Given the description of an element on the screen output the (x, y) to click on. 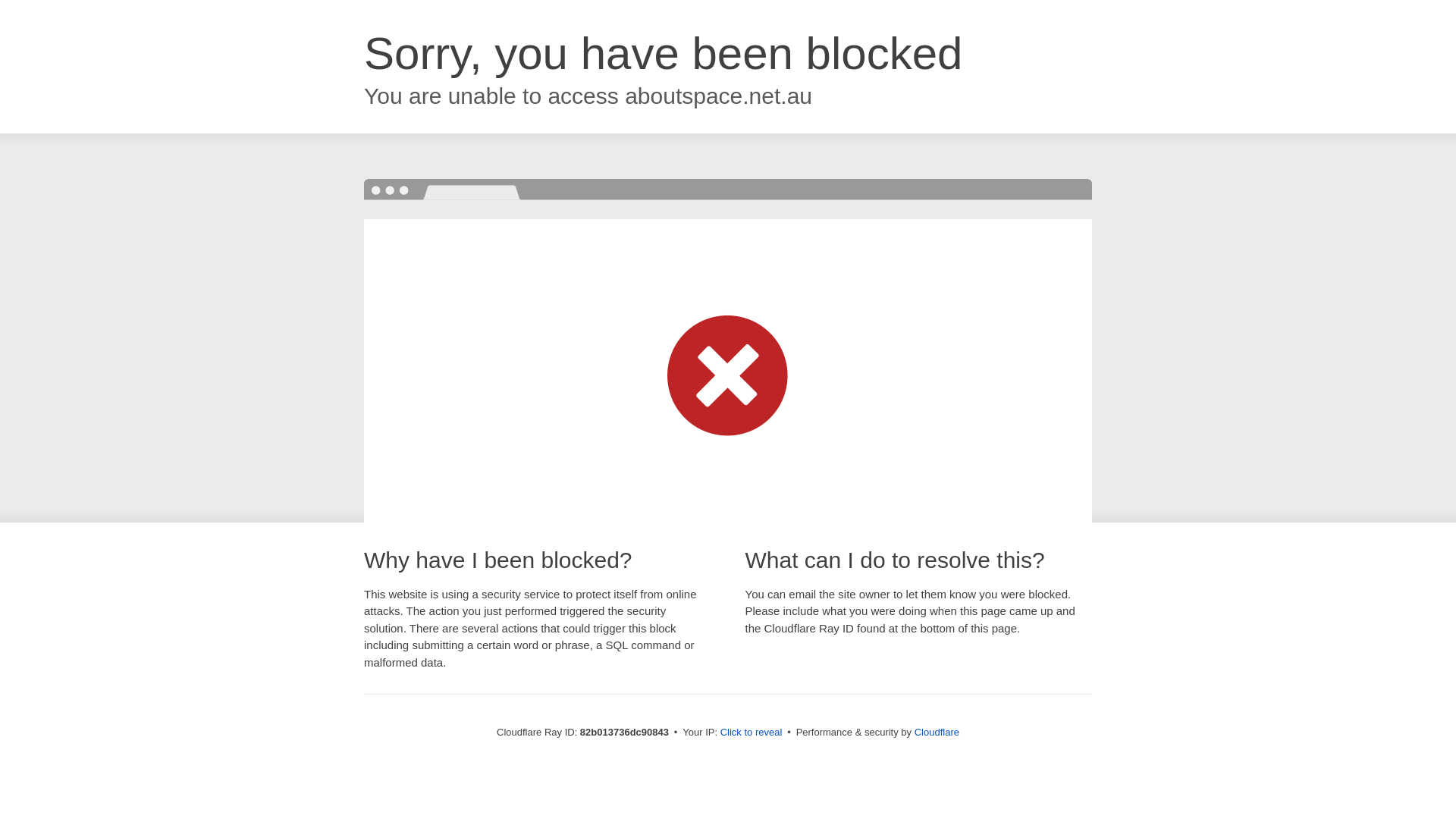
Cloudflare Element type: text (936, 731)
Click to reveal Element type: text (751, 732)
